Given the description of an element on the screen output the (x, y) to click on. 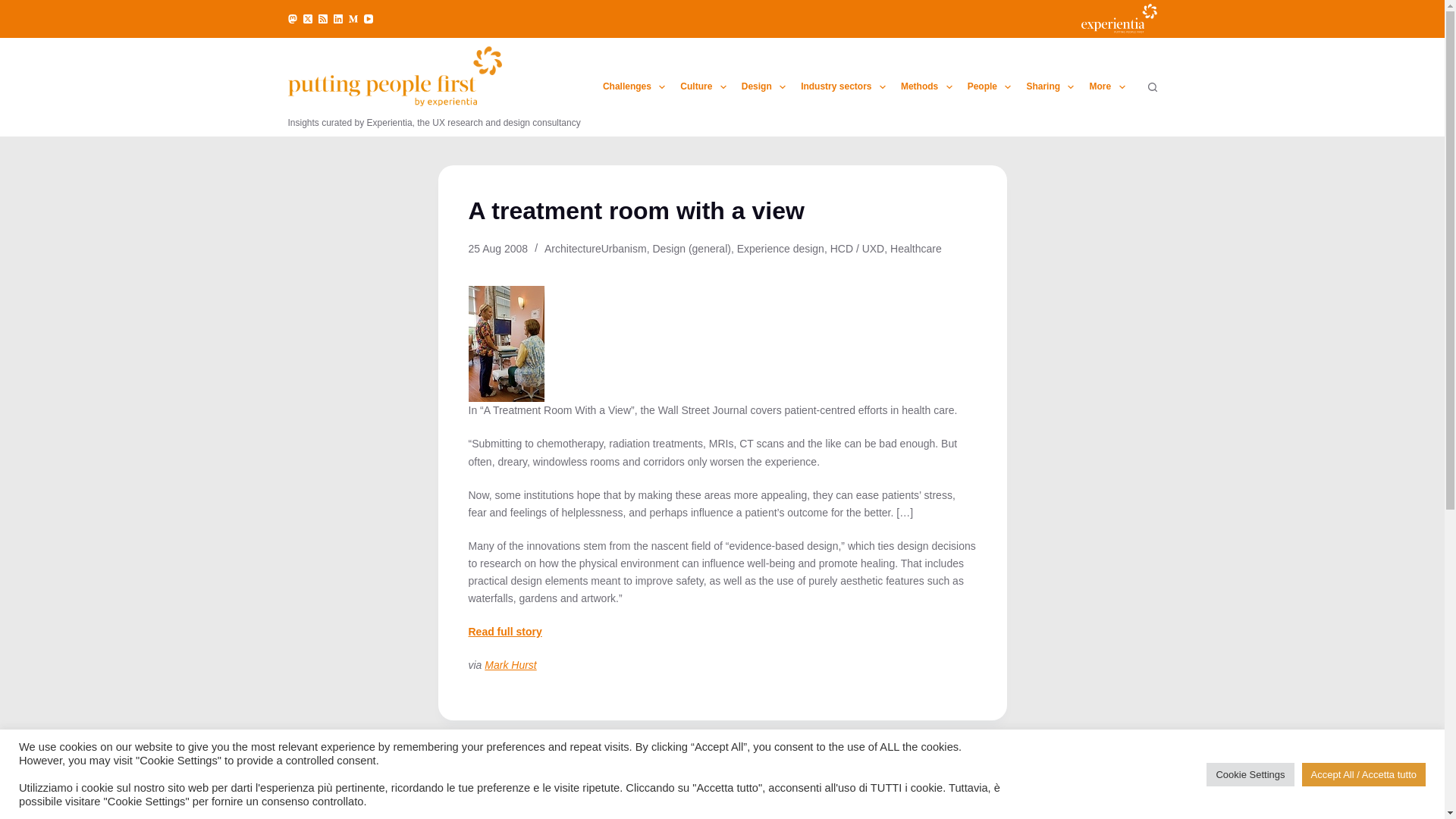
A treatment room with a view (722, 211)
Skip to content (15, 7)
